Given the description of an element on the screen output the (x, y) to click on. 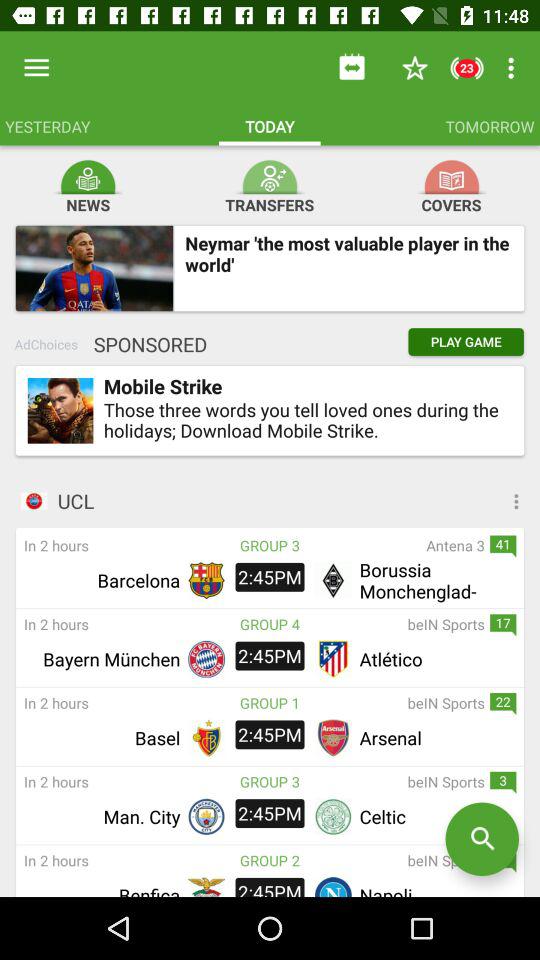
launch man. city icon (102, 816)
